Given the description of an element on the screen output the (x, y) to click on. 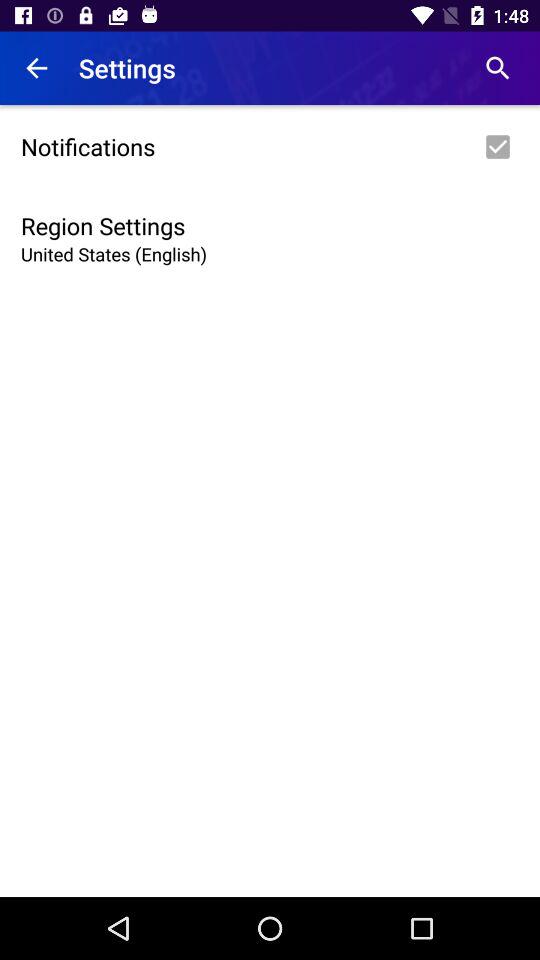
click item above the notifications icon (36, 68)
